Given the description of an element on the screen output the (x, y) to click on. 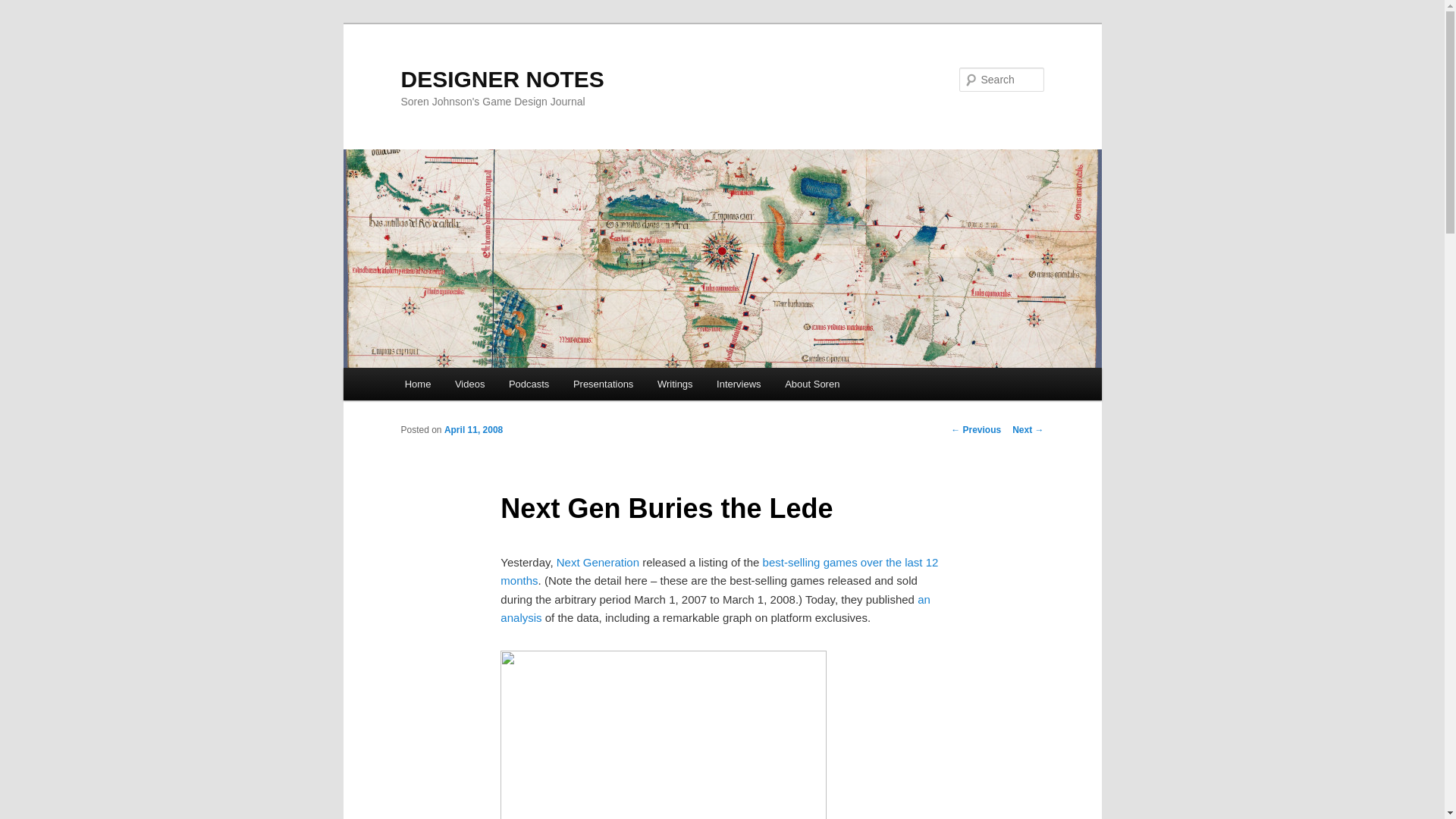
Search (24, 8)
Presentations (602, 383)
Interviews (738, 383)
Writings (674, 383)
Videos (469, 383)
DESIGNER NOTES (502, 78)
10:51 am (473, 429)
Podcasts (528, 383)
an analysis (715, 608)
Next Generation (597, 562)
best-selling games over the last 12 months (718, 571)
About Soren (812, 383)
April 11, 2008 (473, 429)
Home (417, 383)
